Given the description of an element on the screen output the (x, y) to click on. 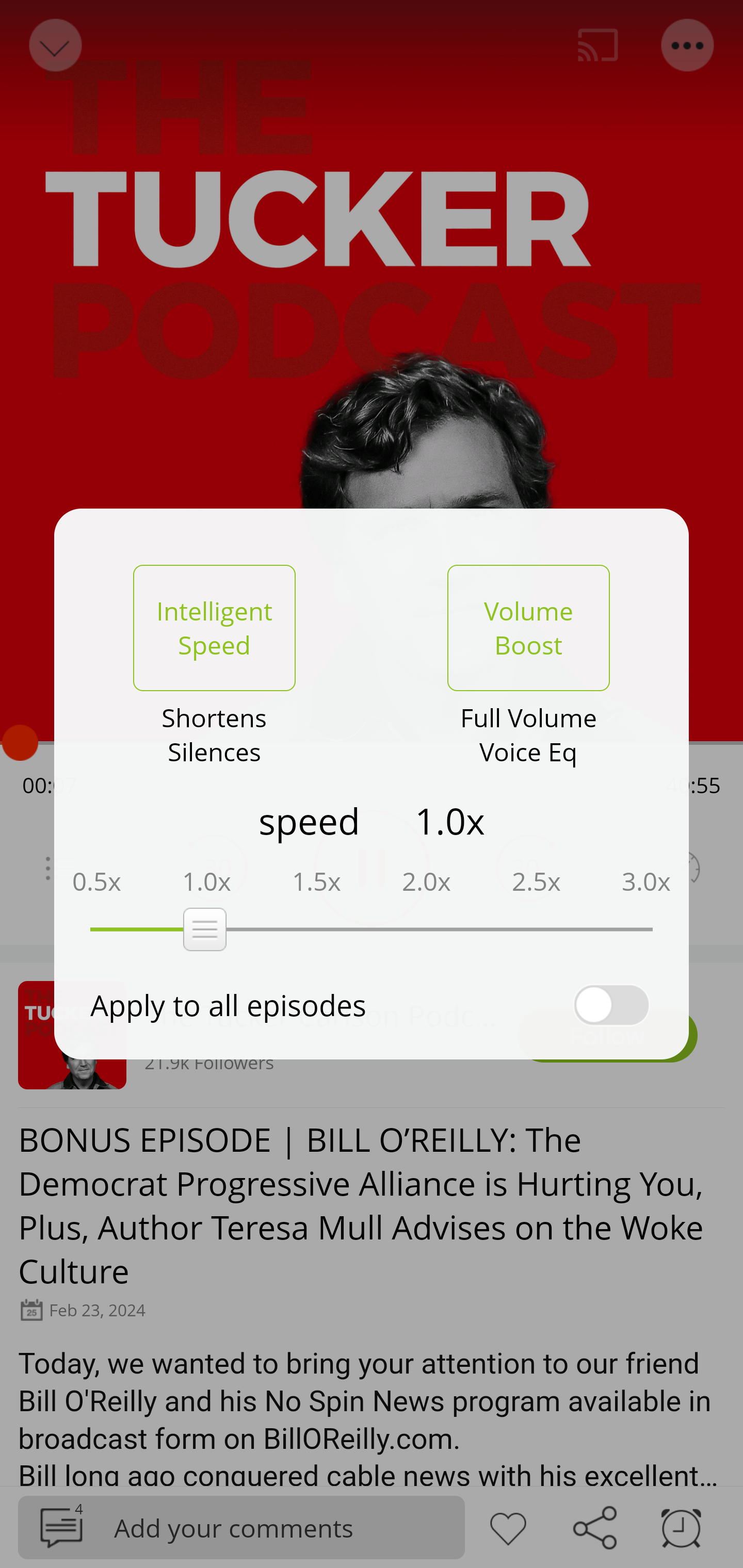
Intelligent
Speed (213, 627)
Volume
Boost (528, 627)
